Given the description of an element on the screen output the (x, y) to click on. 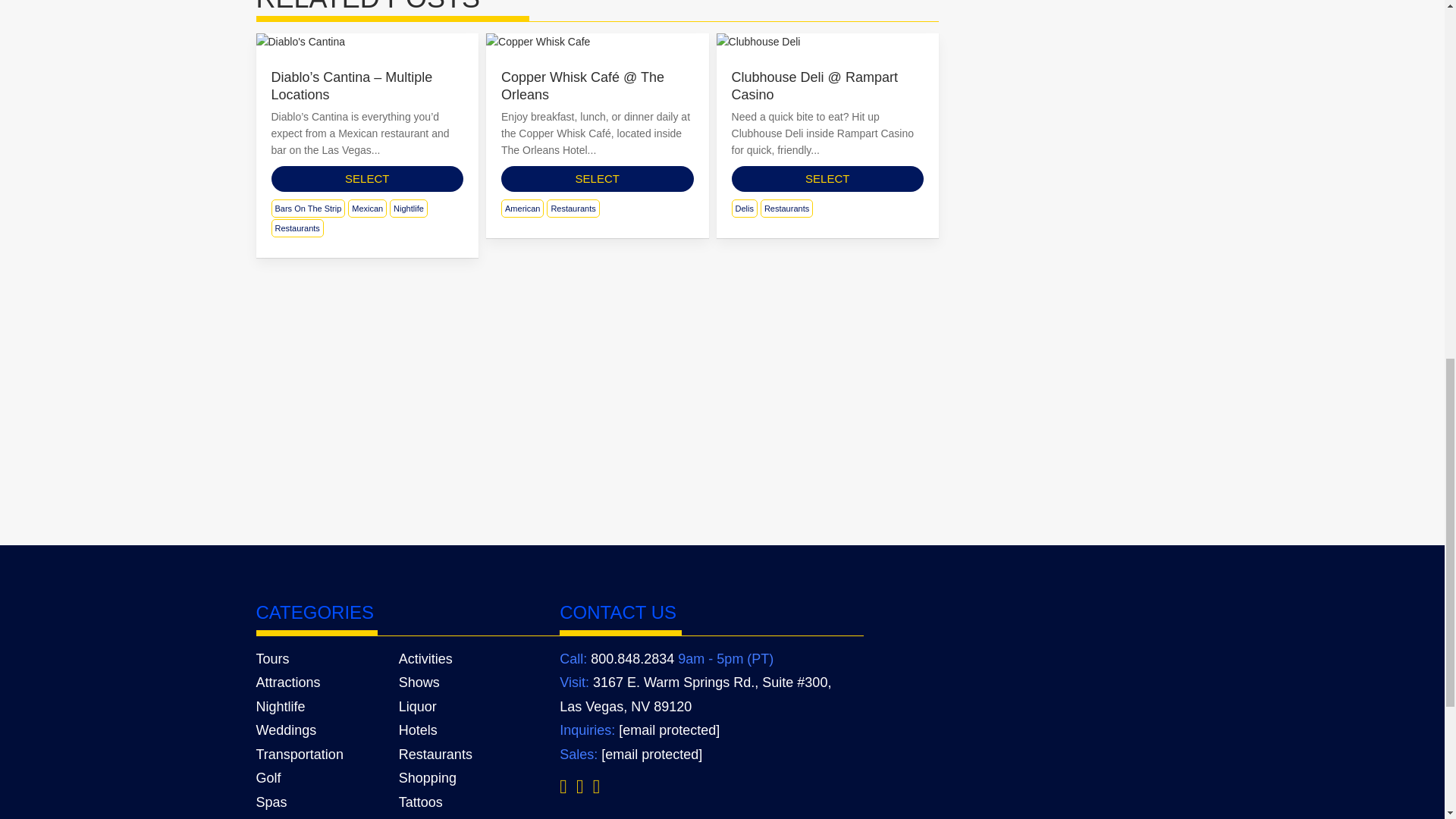
Restaurants (296, 228)
Nightlife (409, 208)
Mexican (367, 208)
Select (367, 178)
Bars On The Strip (308, 208)
